Given the description of an element on the screen output the (x, y) to click on. 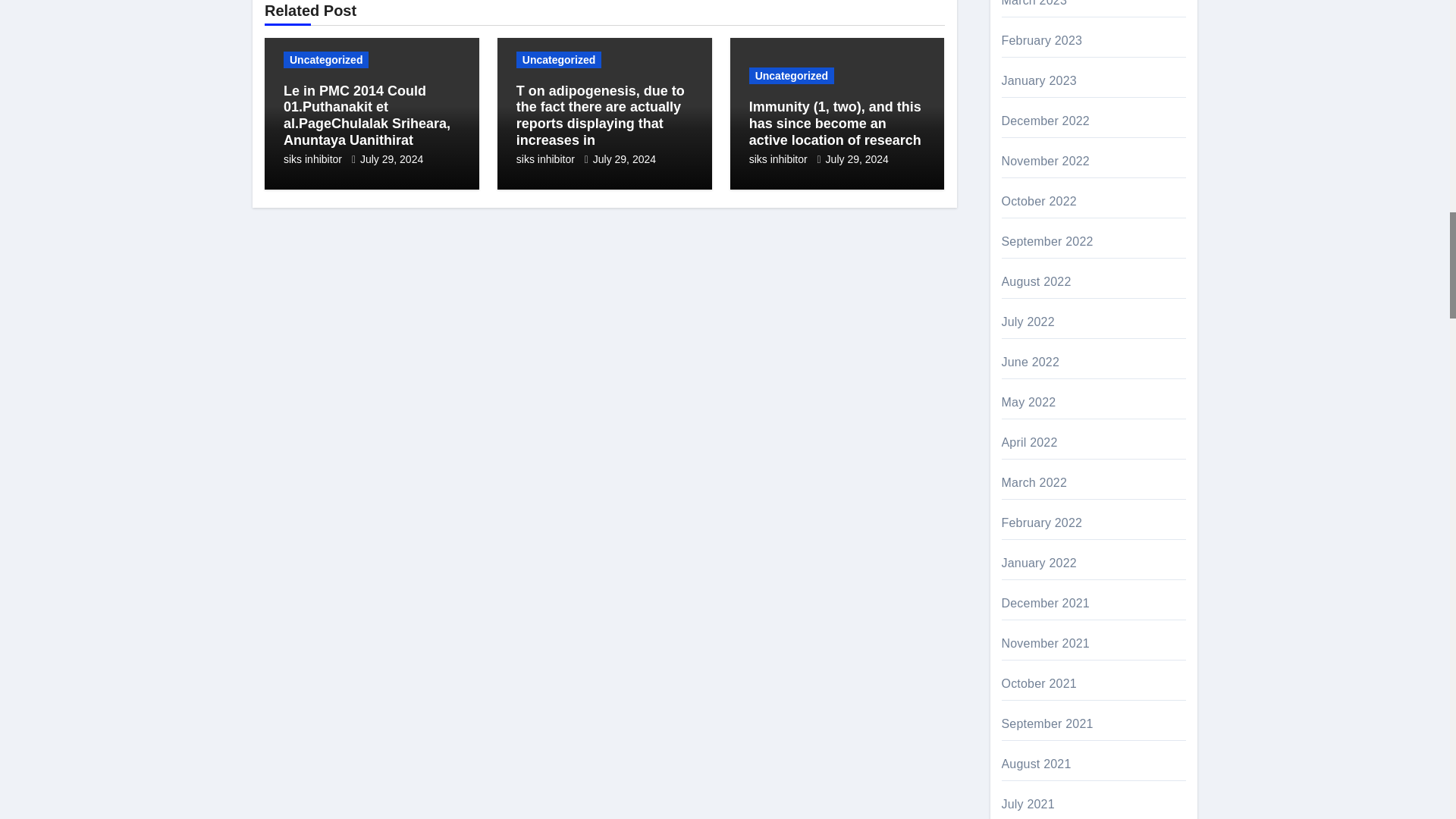
Uncategorized (325, 59)
July 29, 2024 (391, 159)
siks inhibitor (314, 159)
